Given the description of an element on the screen output the (x, y) to click on. 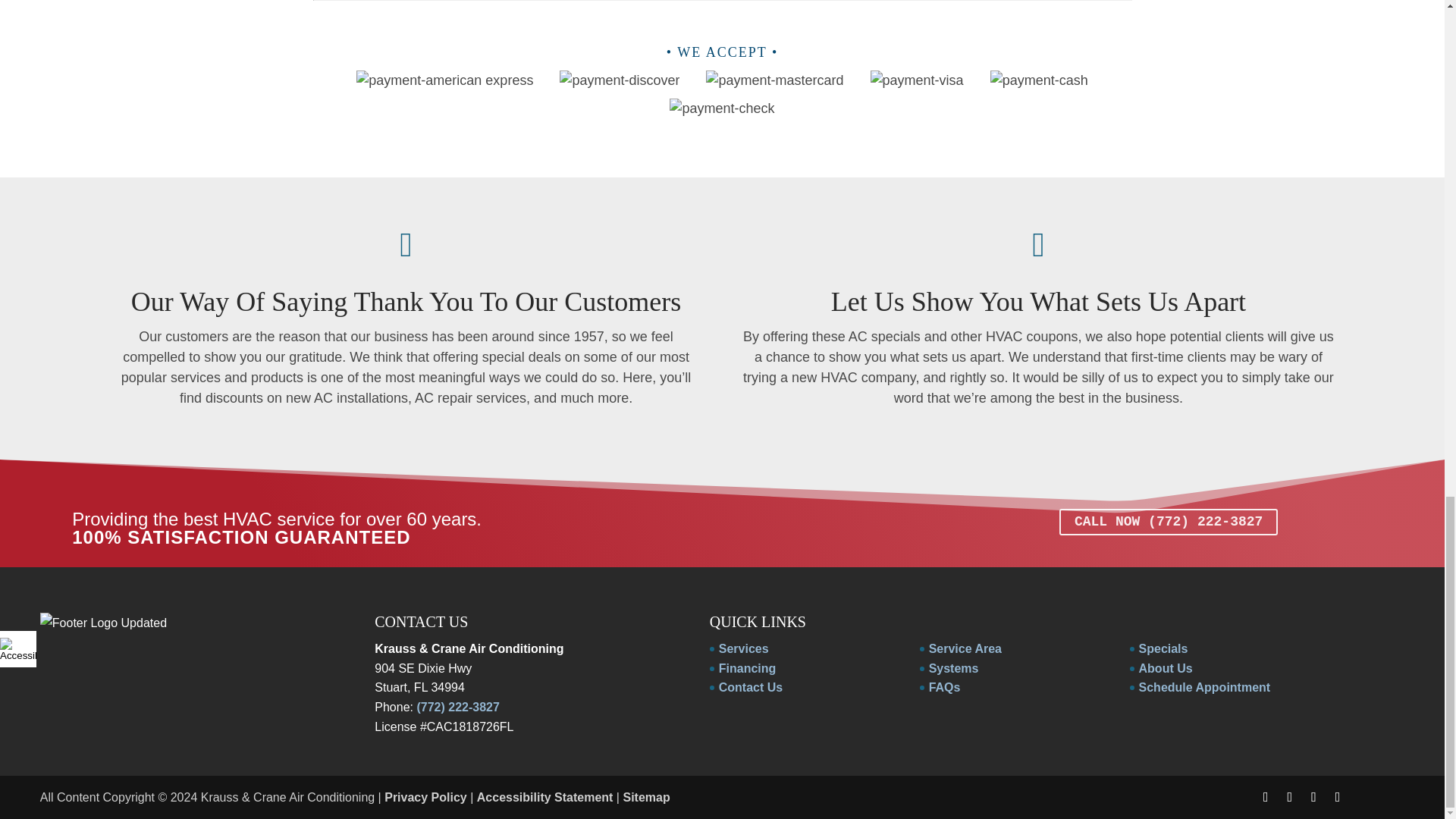
Call Us Now! (1168, 521)
